Given the description of an element on the screen output the (x, y) to click on. 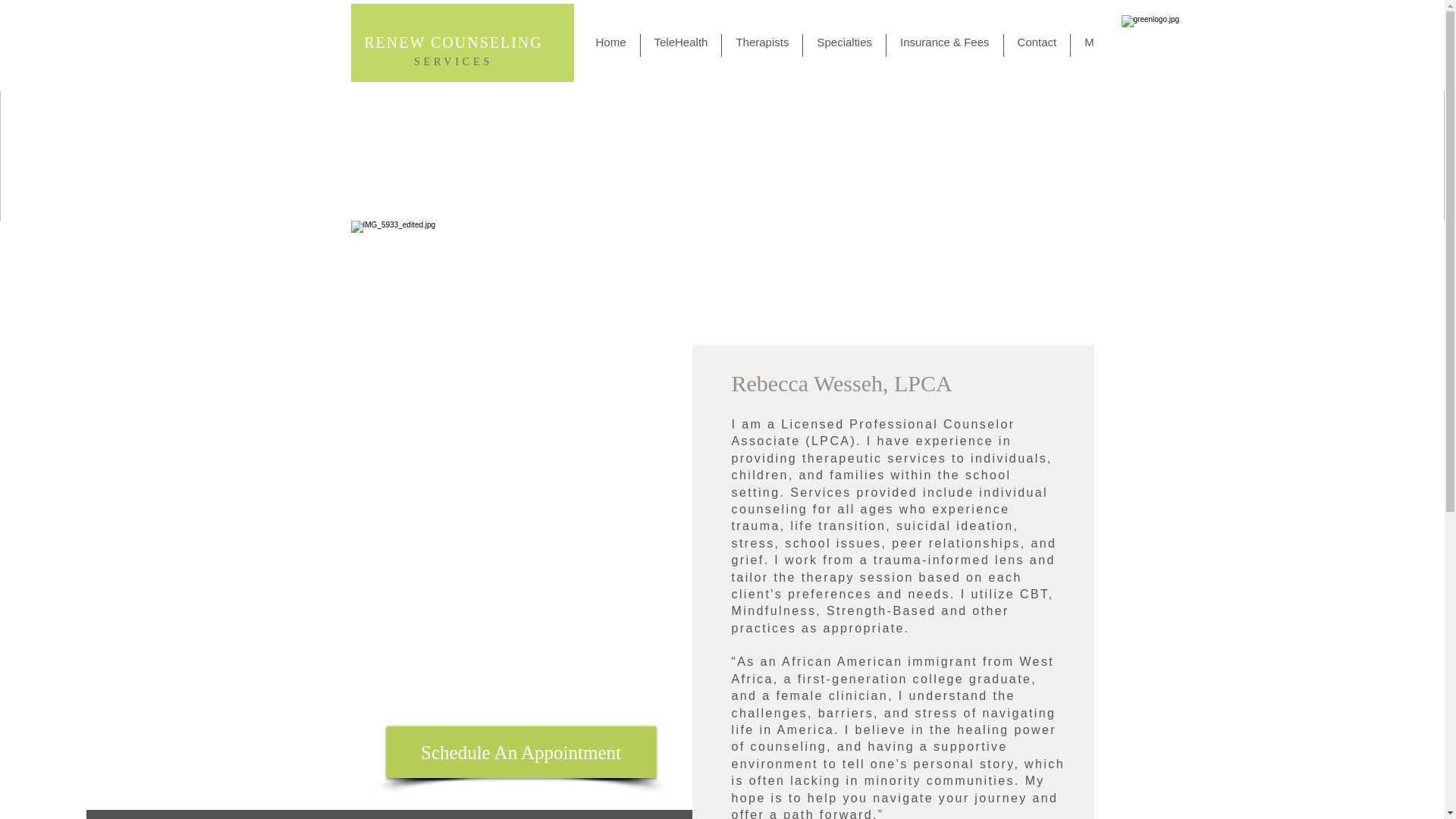
TeleHealth (681, 45)
Specialties (844, 45)
Home (611, 45)
Contact (1037, 45)
Schedule An Appointment (521, 752)
Therapists (762, 45)
